Given the description of an element on the screen output the (x, y) to click on. 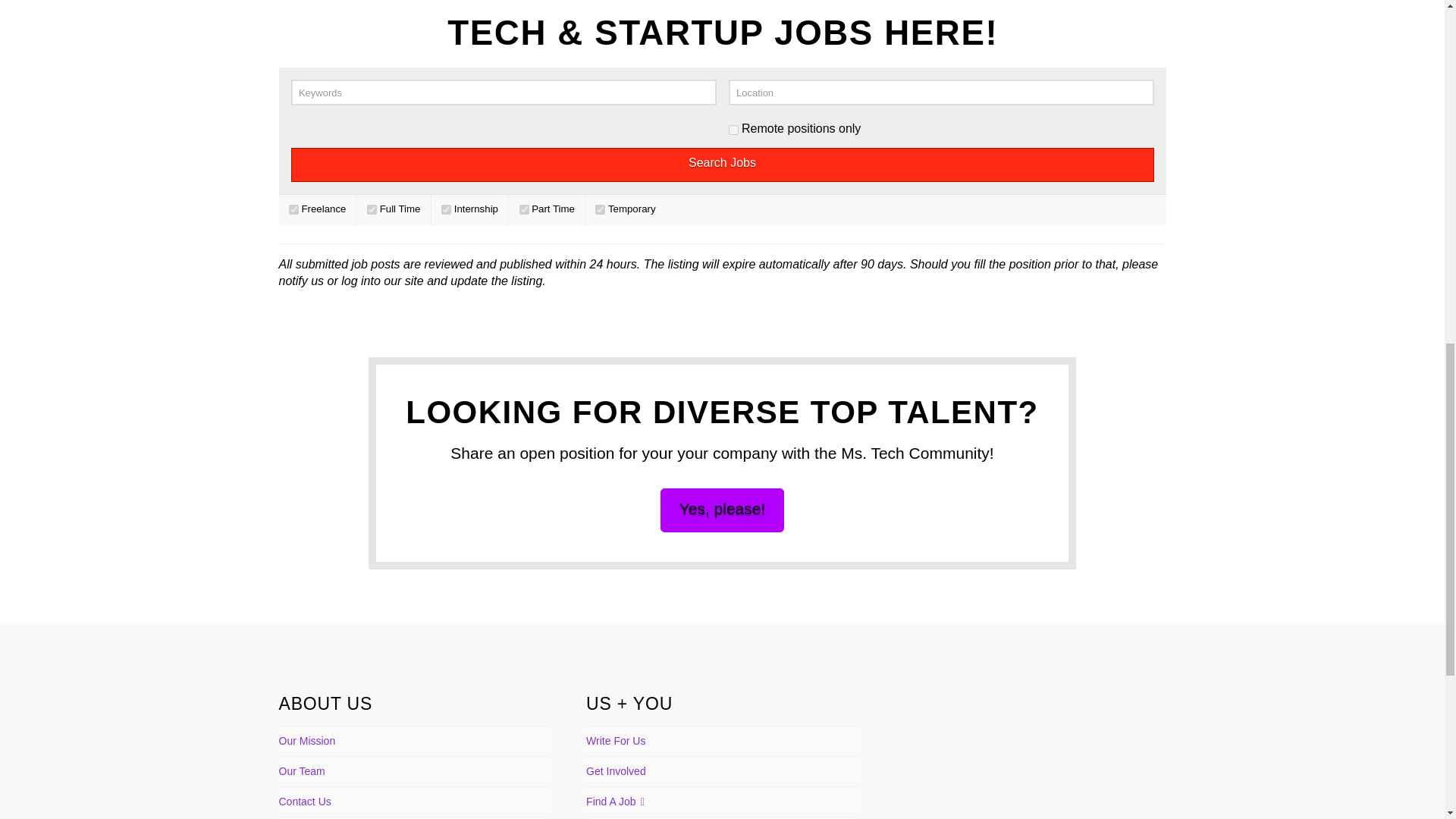
1 (733, 130)
Search Jobs (722, 164)
freelance (293, 209)
internship (446, 209)
 Yes, please! (722, 510)
Find A Job (615, 801)
temporary (600, 209)
Get Involved (616, 771)
Our Team (301, 771)
Contact Us (305, 801)
